Given the description of an element on the screen output the (x, y) to click on. 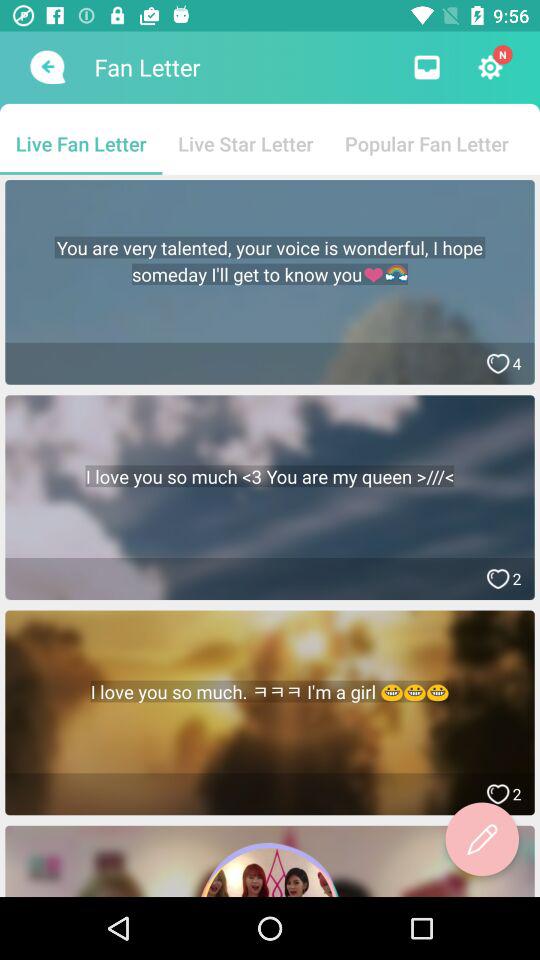
select item above the live fan letter item (45, 67)
